Given the description of an element on the screen output the (x, y) to click on. 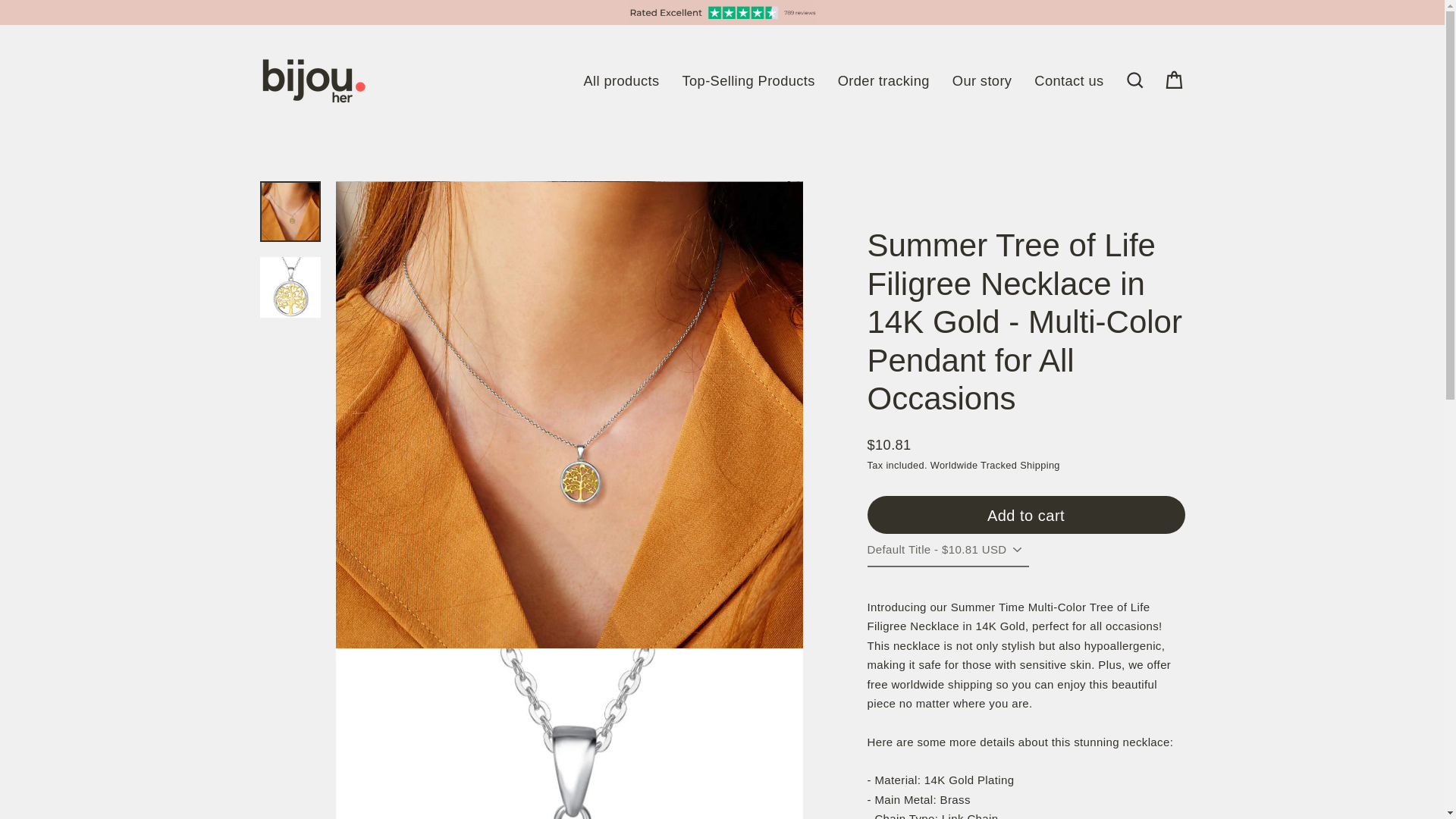
Order tracking (883, 80)
All products (621, 80)
Contact us (1069, 80)
Top-Selling Products (749, 80)
Our story (981, 80)
